Given the description of an element on the screen output the (x, y) to click on. 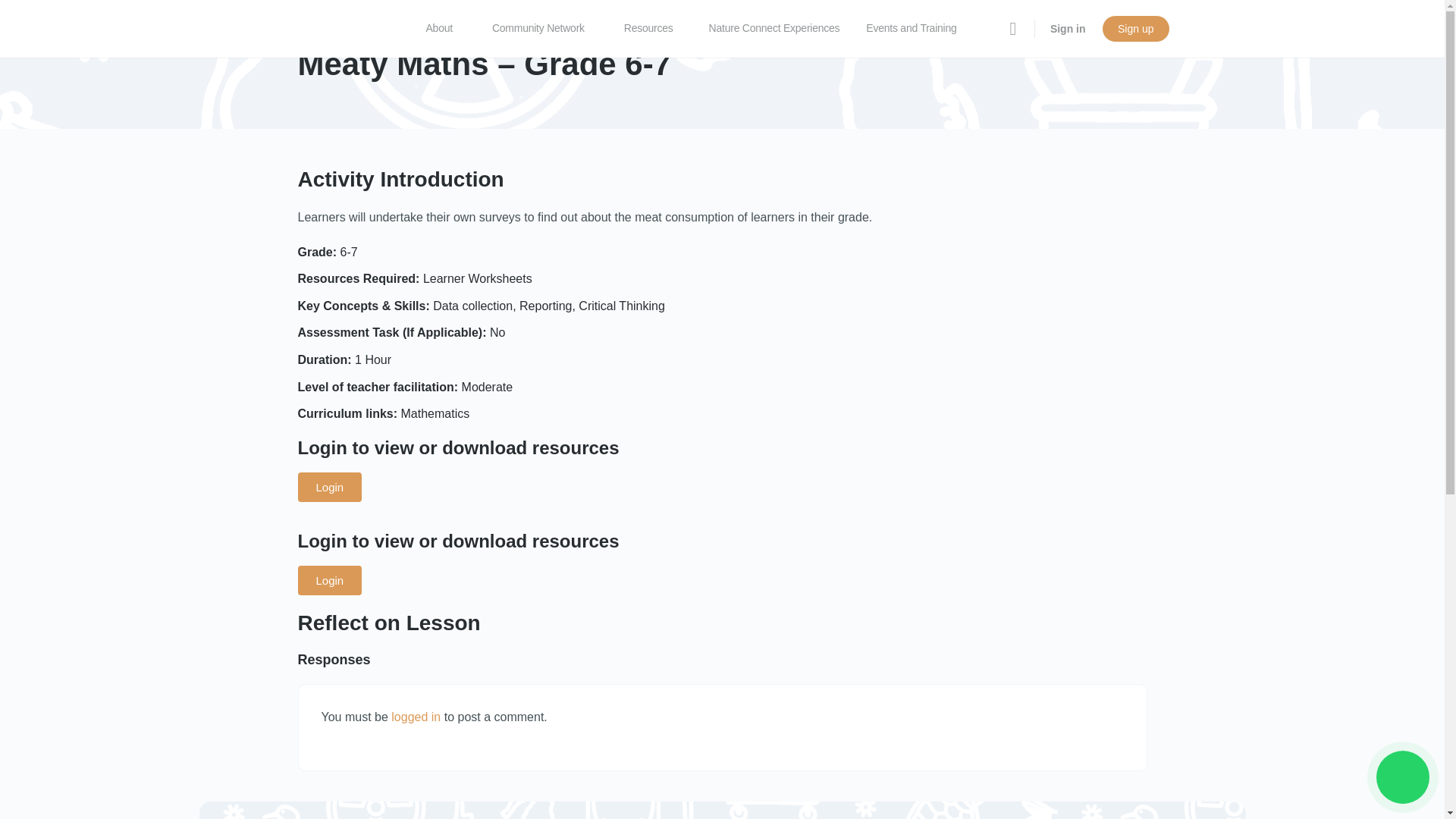
About (446, 28)
Community Network (544, 28)
Events and Training (917, 28)
Nature Connect Experiences (774, 28)
Sign up (1135, 28)
Sign in (1067, 28)
Resources (654, 28)
